Given the description of an element on the screen output the (x, y) to click on. 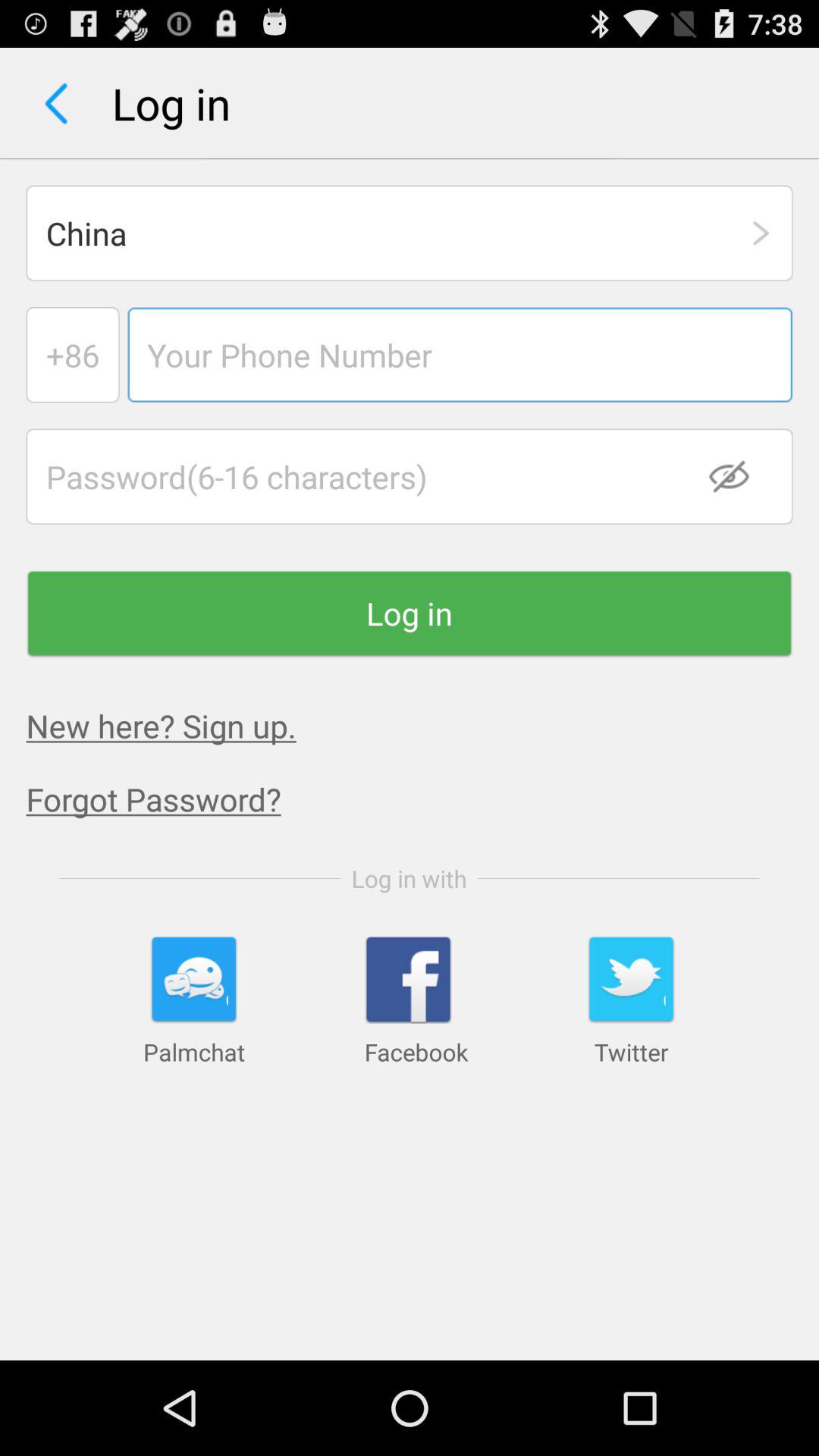
turn on icon above the +86 item (409, 232)
